Given the description of an element on the screen output the (x, y) to click on. 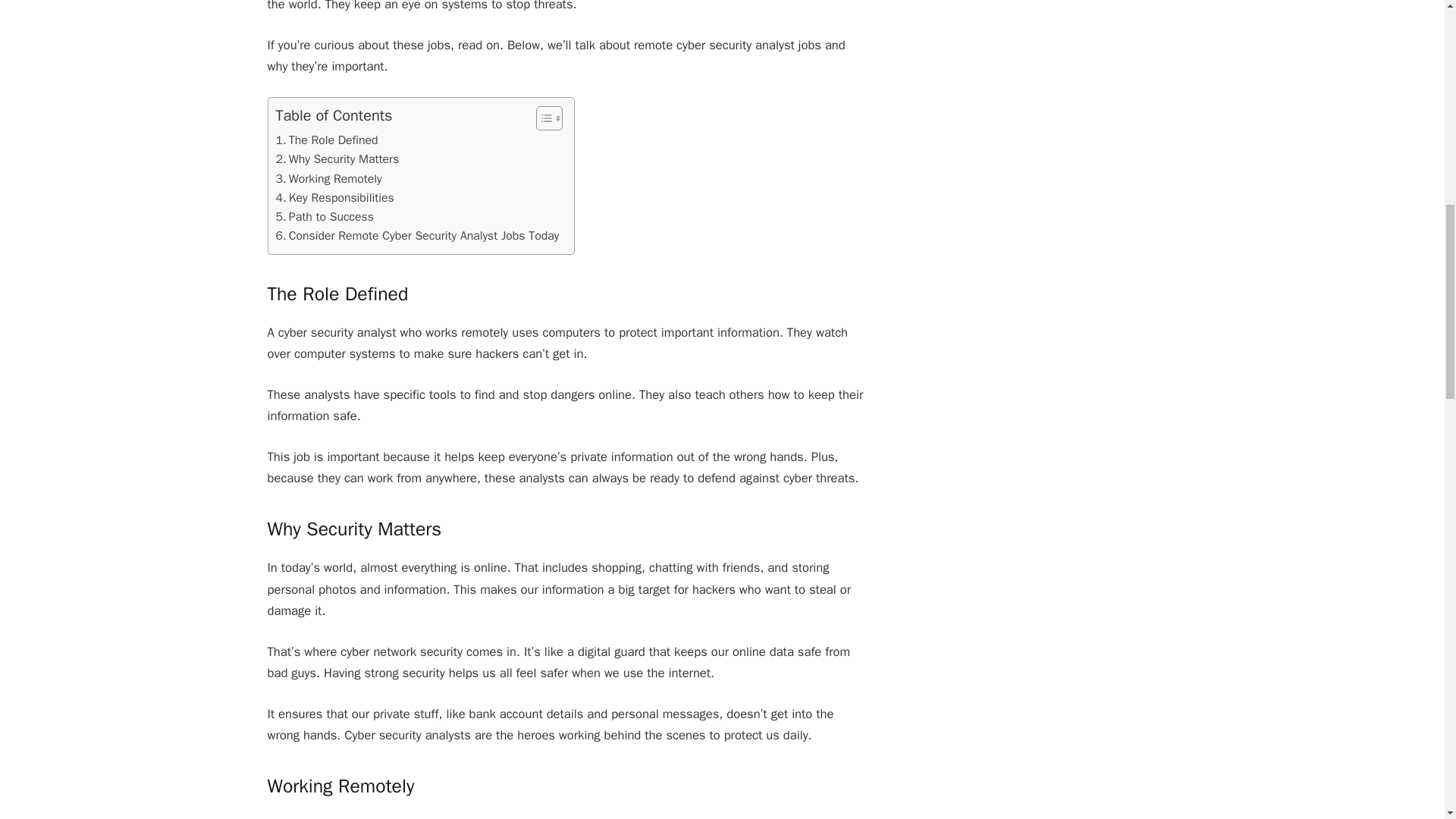
Working remotely (313, 817)
The Role Defined (327, 140)
Consider Remote Cyber Security Analyst Jobs Today (417, 235)
Working Remotely (328, 179)
Path to Success (325, 217)
Key Responsibilities (335, 198)
Why Security Matters (337, 158)
Key Responsibilities (335, 198)
The Role Defined (327, 140)
Working Remotely (328, 179)
